Given the description of an element on the screen output the (x, y) to click on. 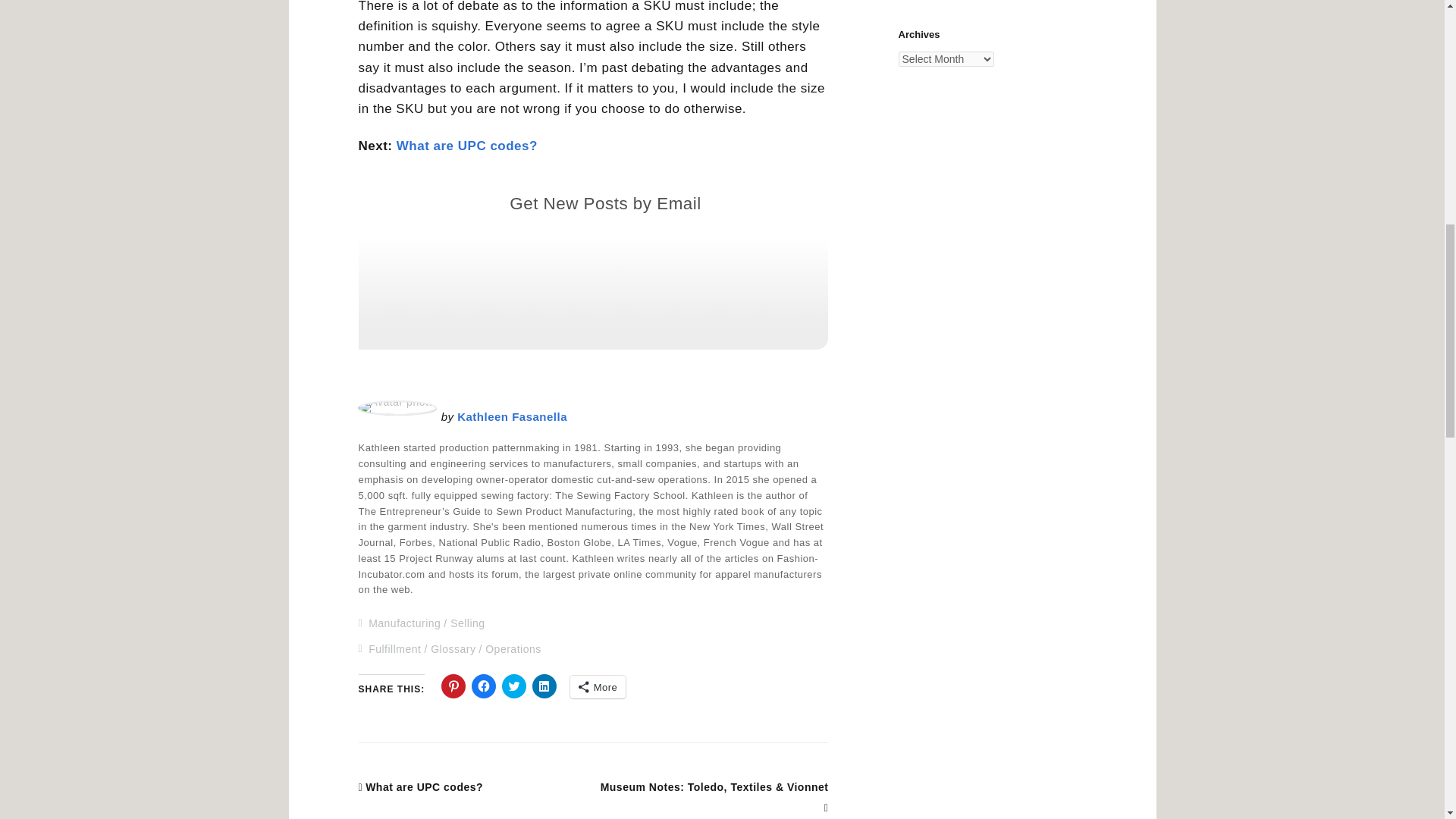
Glossary (453, 648)
Click to share on Pinterest (453, 686)
Click to share on Facebook (483, 686)
Operations (512, 648)
Fulfillment (394, 648)
Kathleen Fasanella (512, 416)
Manufacturing (404, 623)
What are UPC codes? (466, 145)
Click to share on LinkedIn (544, 686)
More (598, 686)
Click to share on Twitter (513, 686)
Selling (466, 623)
